Given the description of an element on the screen output the (x, y) to click on. 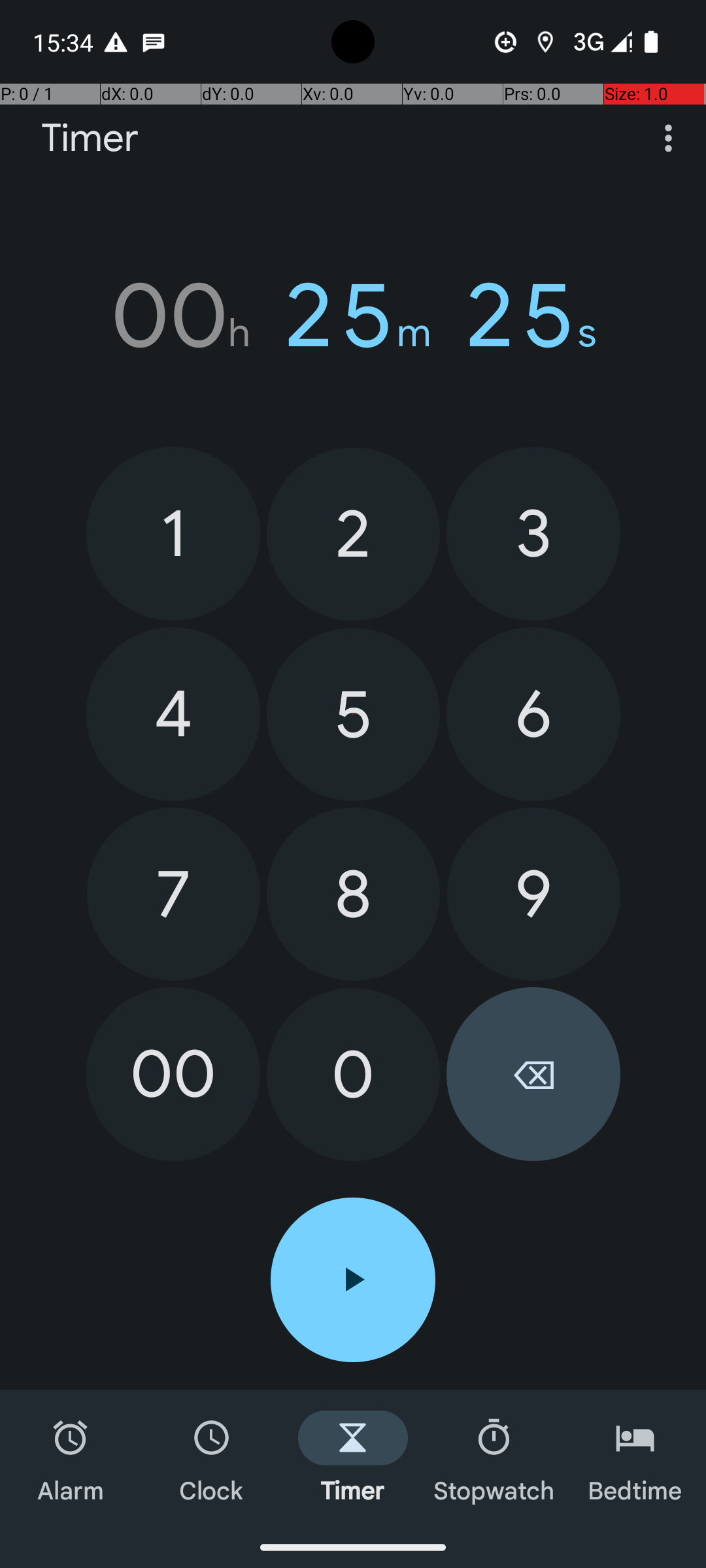
Timer Element type: android.widget.TextView (89, 138)
00h 25m 25s Element type: android.widget.TextView (353, 315)
1 Element type: android.widget.Button (173, 533)
2 Element type: android.widget.Button (352, 533)
3 Element type: android.widget.Button (533, 533)
4 Element type: android.widget.Button (173, 713)
5 Element type: android.widget.Button (352, 713)
6 Element type: android.widget.Button (533, 713)
7 Element type: android.widget.Button (173, 893)
8 Element type: android.widget.Button (352, 893)
9 Element type: android.widget.Button (533, 893)
00 Element type: android.widget.Button (173, 1073)
0 Element type: android.widget.Button (352, 1073)
⌫ Element type: android.widget.Button (533, 1073)
Start Element type: android.widget.Button (352, 1279)
Alarm Element type: android.widget.FrameLayout (70, 1457)
Clock Element type: android.widget.FrameLayout (211, 1457)
Stopwatch Element type: android.widget.FrameLayout (493, 1457)
Bedtime Element type: android.widget.FrameLayout (635, 1457)
Data Saver is on Element type: android.widget.ImageView (505, 41)
